Given the description of an element on the screen output the (x, y) to click on. 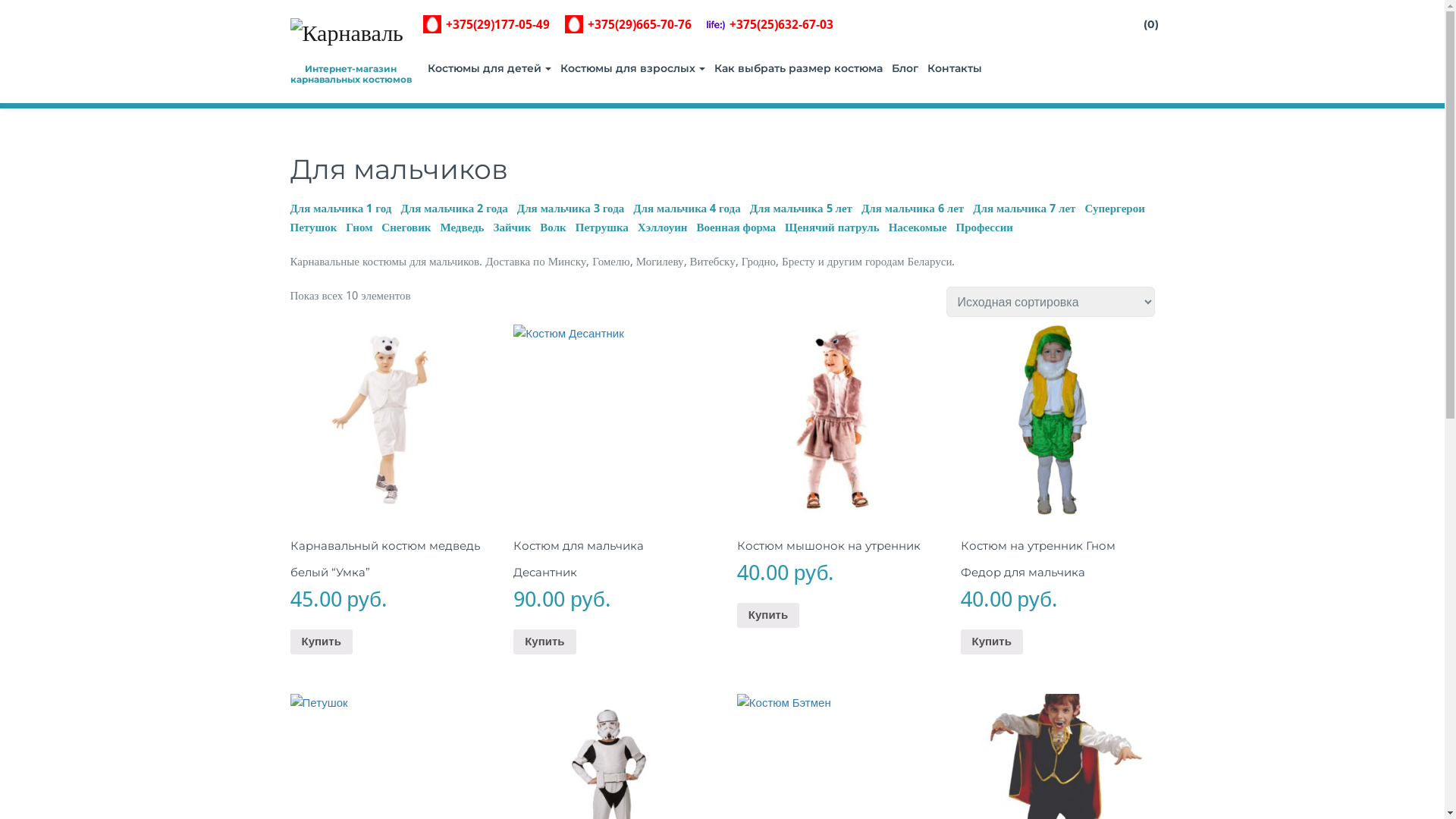
+375(25)632-67-03 Element type: text (769, 24)
+375(29)177-05-49 Element type: text (486, 24)
+375(29)665-70-76 Element type: text (627, 24)
Search Element type: text (23, 12)
